Given the description of an element on the screen output the (x, y) to click on. 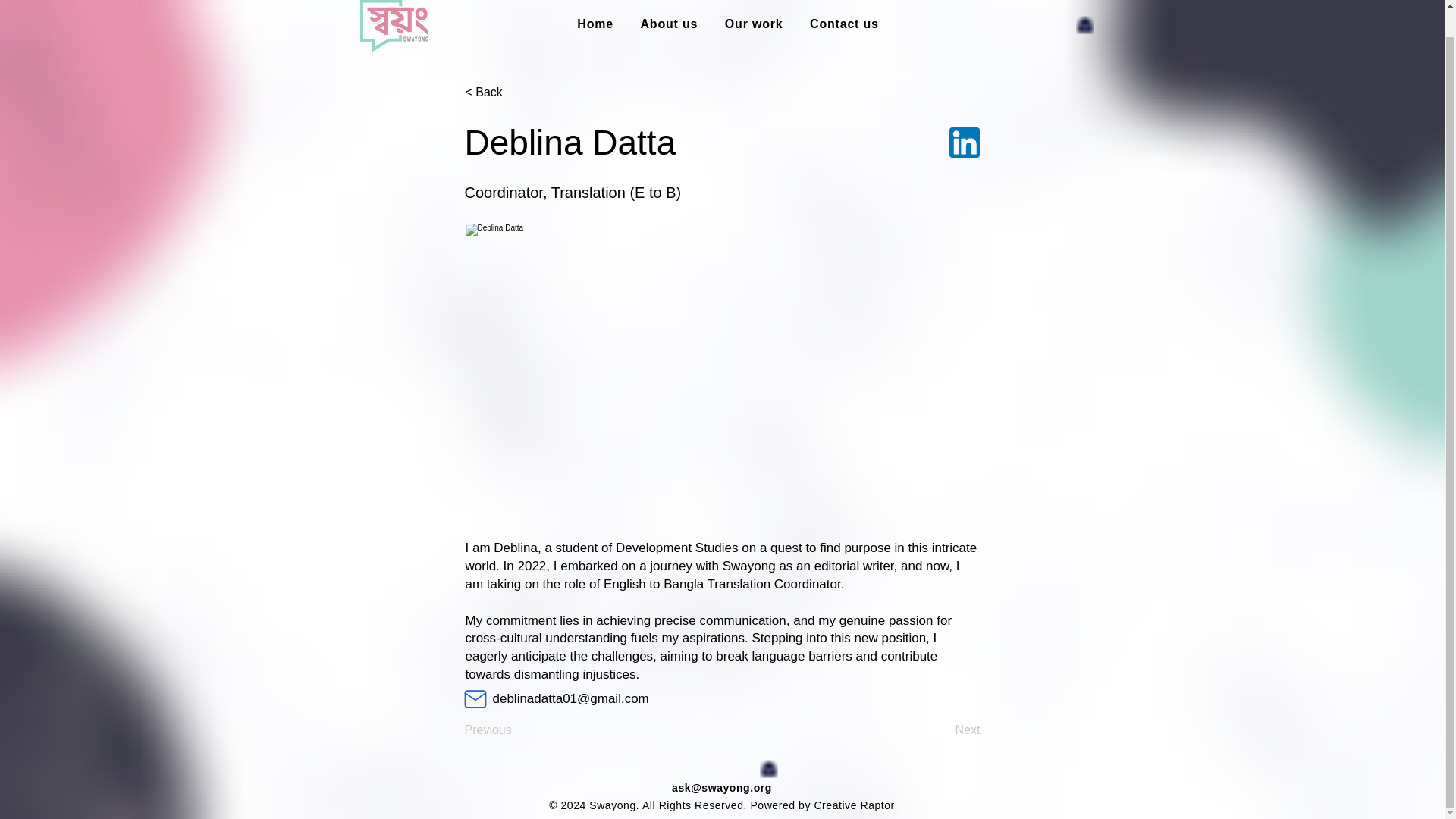
About us (668, 23)
Contact us (843, 23)
Next (941, 729)
Previous (514, 729)
Home (595, 23)
174857.png (964, 142)
